Given the description of an element on the screen output the (x, y) to click on. 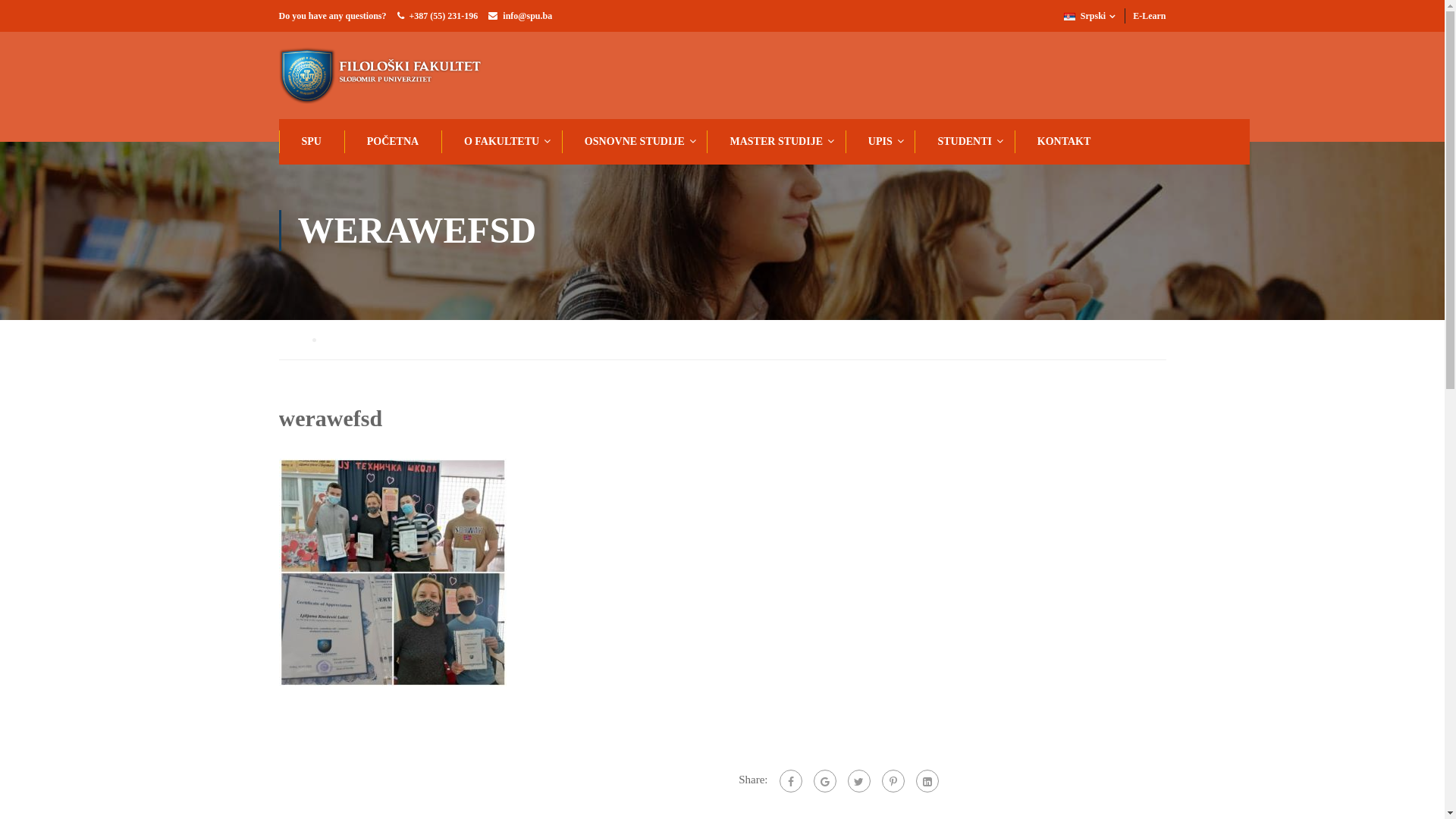
STUDENTI Element type: text (962, 141)
Google Plus Element type: hover (823, 780)
E-Learn Element type: text (1148, 15)
+387 (55) 231-196 Element type: text (443, 15)
O FAKULTETU Element type: text (499, 141)
Facebook Element type: hover (790, 780)
SPU Element type: text (310, 141)
Home Element type: text (297, 338)
KONTAKT Element type: text (1062, 141)
Srpski Element type: text (1094, 15)
Twitter Element type: hover (858, 780)
MASTER STUDIJE Element type: text (774, 141)
OSNOVNE STUDIJE Element type: text (632, 141)
UPIS Element type: text (878, 141)
Pinterest Element type: hover (892, 780)
info@spu.ba Element type: text (527, 15)
